Given the description of an element on the screen output the (x, y) to click on. 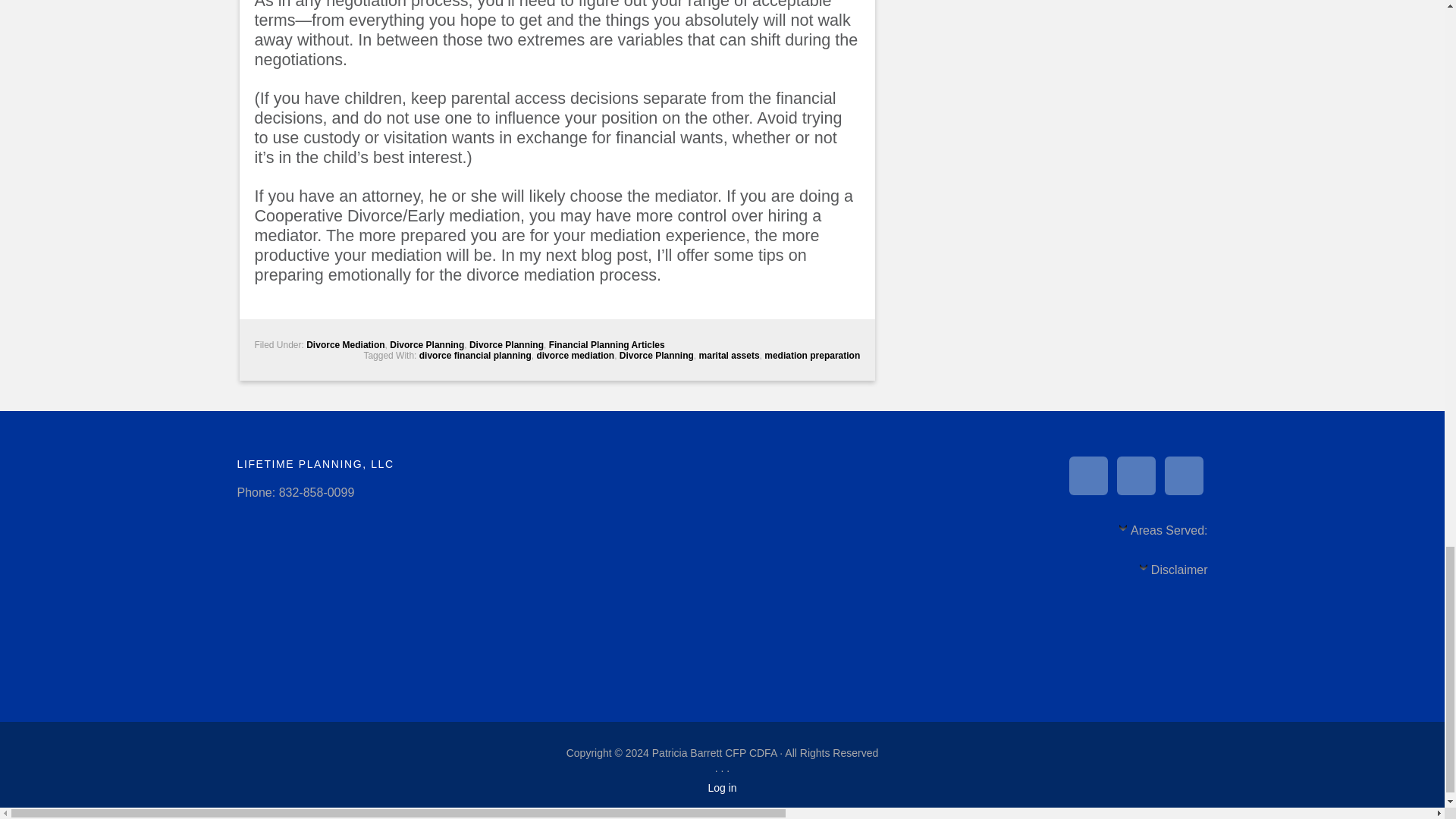
divorce mediation (574, 355)
Disclaimer (1173, 573)
divorce financial planning (475, 355)
Divorce Planning (427, 344)
Divorce Planning (657, 355)
Divorce Planning (505, 344)
marital assets (729, 355)
Areas Served: (1162, 534)
mediation preparation (812, 355)
Financial Planning Articles (606, 344)
Divorce Mediation (344, 344)
